Given the description of an element on the screen output the (x, y) to click on. 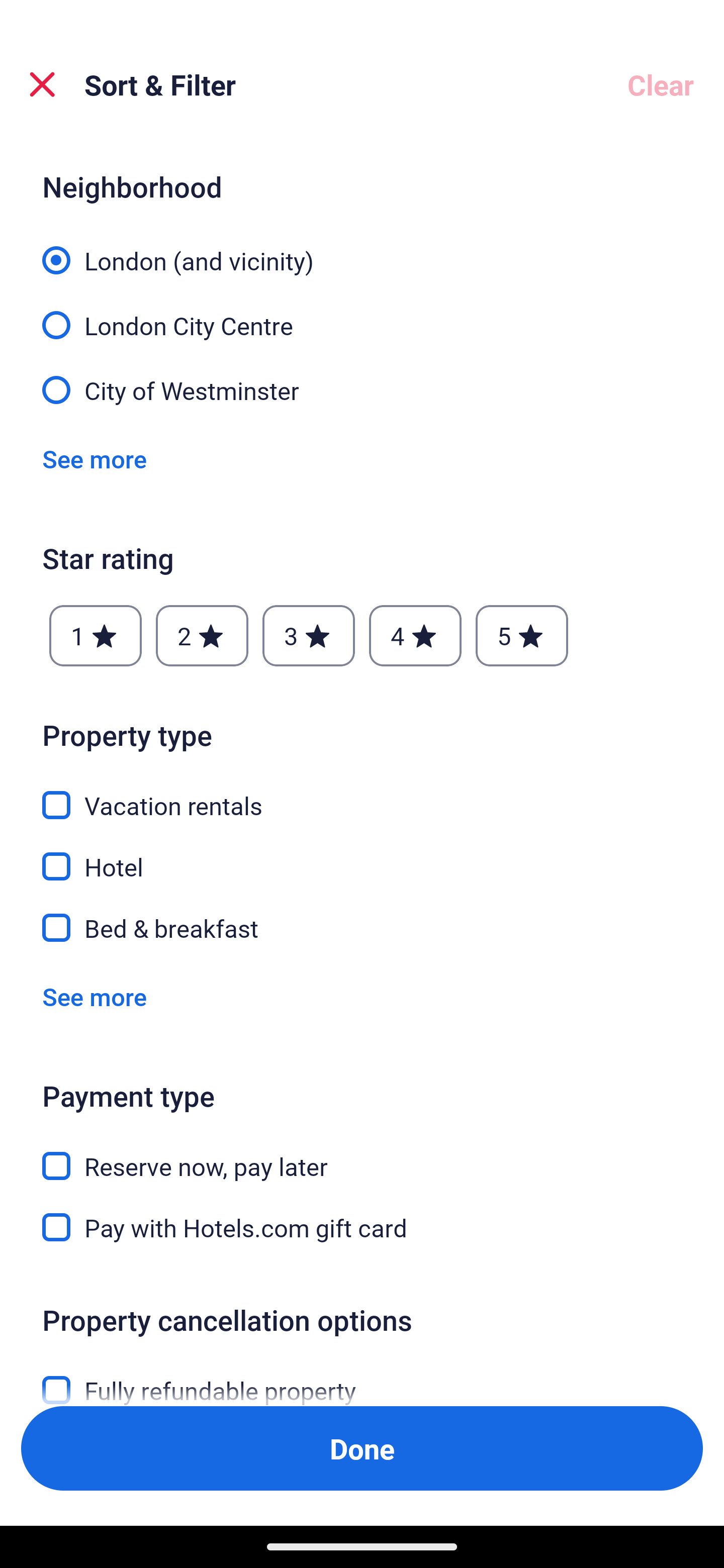
Close Sort and Filter (42, 84)
Clear (660, 84)
London City Centre (361, 314)
City of Westminster (361, 388)
See more See more neighborhoods Link (93, 459)
1 (95, 635)
2 (201, 635)
3 (308, 635)
4 (415, 635)
5 (521, 635)
Vacation rentals, Vacation rentals (361, 793)
Hotel, Hotel (361, 854)
Bed & breakfast, Bed & breakfast (361, 927)
See more See more property types Link (93, 996)
Reserve now, pay later, Reserve now, pay later (361, 1154)
Apply and close Sort and Filter Done (361, 1448)
